Given the description of an element on the screen output the (x, y) to click on. 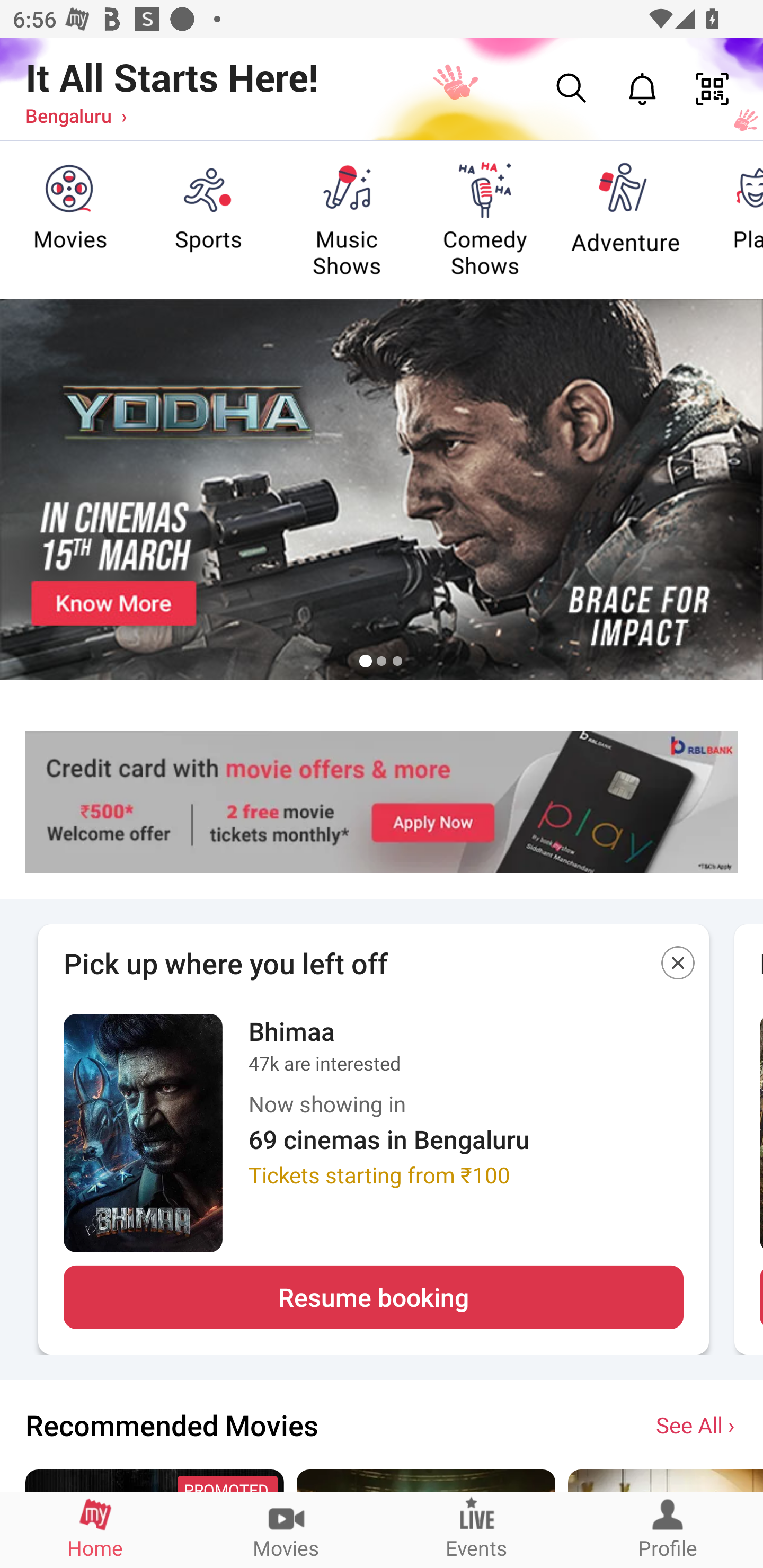
Bengaluru  › (76, 114)
  (678, 966)
Resume booking (373, 1297)
See All › (696, 1424)
Home (95, 1529)
Movies (285, 1529)
Events (476, 1529)
Profile (667, 1529)
